Given the description of an element on the screen output the (x, y) to click on. 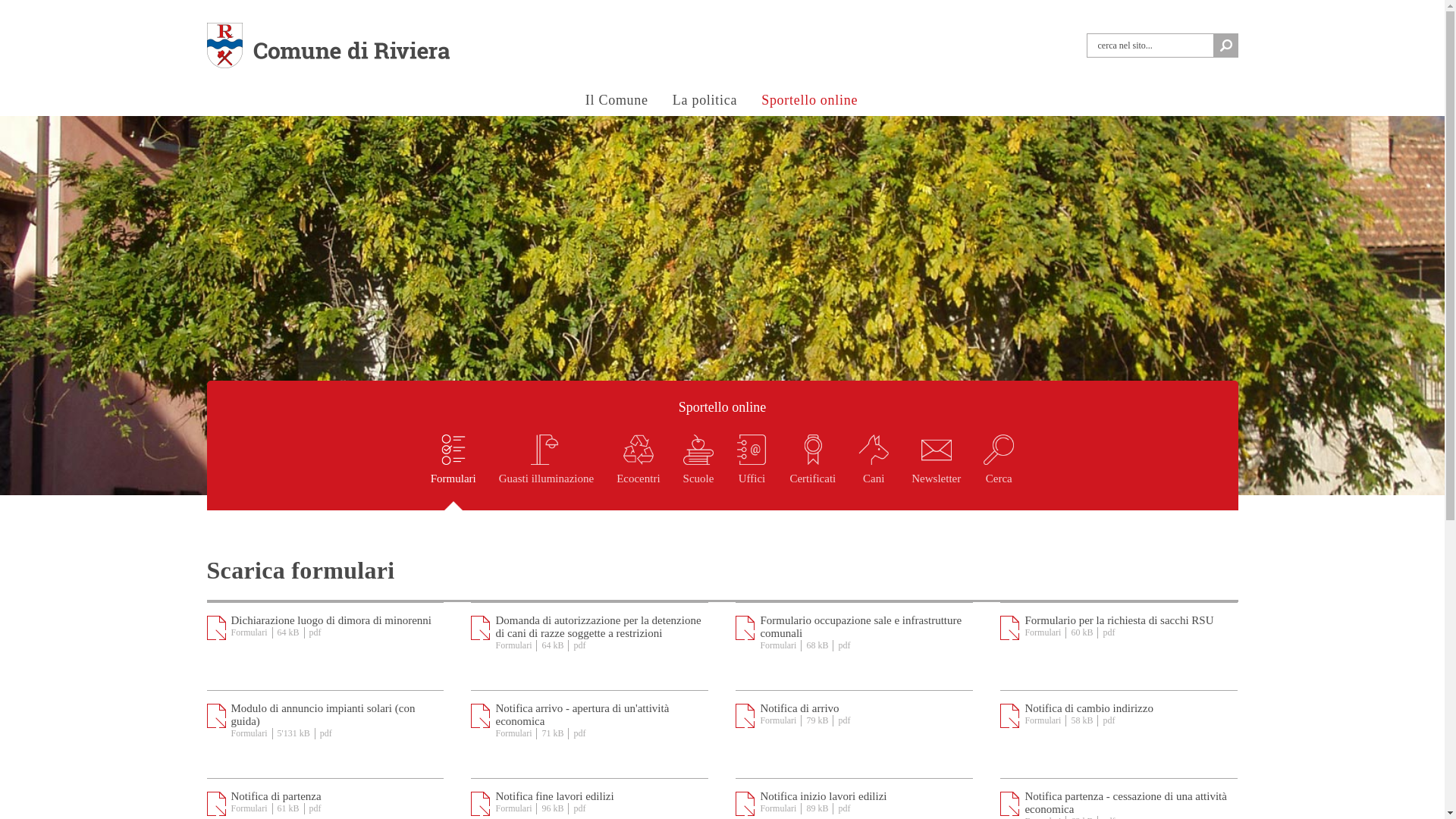
Cani Element type: text (873, 472)
Formulari Element type: text (453, 472)
Sportello online Element type: text (809, 101)
La politica Element type: text (704, 101)
Scuole Element type: text (698, 472)
Notifica di partenza Element type: text (275, 796)
Uffici Element type: text (751, 472)
Il Comune Element type: text (616, 101)
Notifica di cambio indirizzo Element type: text (1088, 708)
Ecocentri Element type: text (637, 472)
Sportello online Element type: text (721, 407)
Notifica di arrivo Element type: text (798, 708)
  Element type: text (1225, 45)
Certificati Element type: text (812, 472)
Cerca Element type: text (998, 472)
Modulo di annuncio impianti solari (con guida) Element type: text (322, 714)
Guasti illuminazione Element type: text (545, 472)
Formulario per la richiesta di sacchi RSU Element type: text (1118, 620)
Notifica fine lavori edilizi Element type: text (554, 796)
Dichiarazione luogo di dimora di minorenni Element type: text (330, 620)
Formulario occupazione sale e infrastrutture comunali Element type: text (860, 626)
Notifica inizio lavori edilizi Element type: text (822, 796)
Newsletter Element type: text (935, 472)
